Given the description of an element on the screen output the (x, y) to click on. 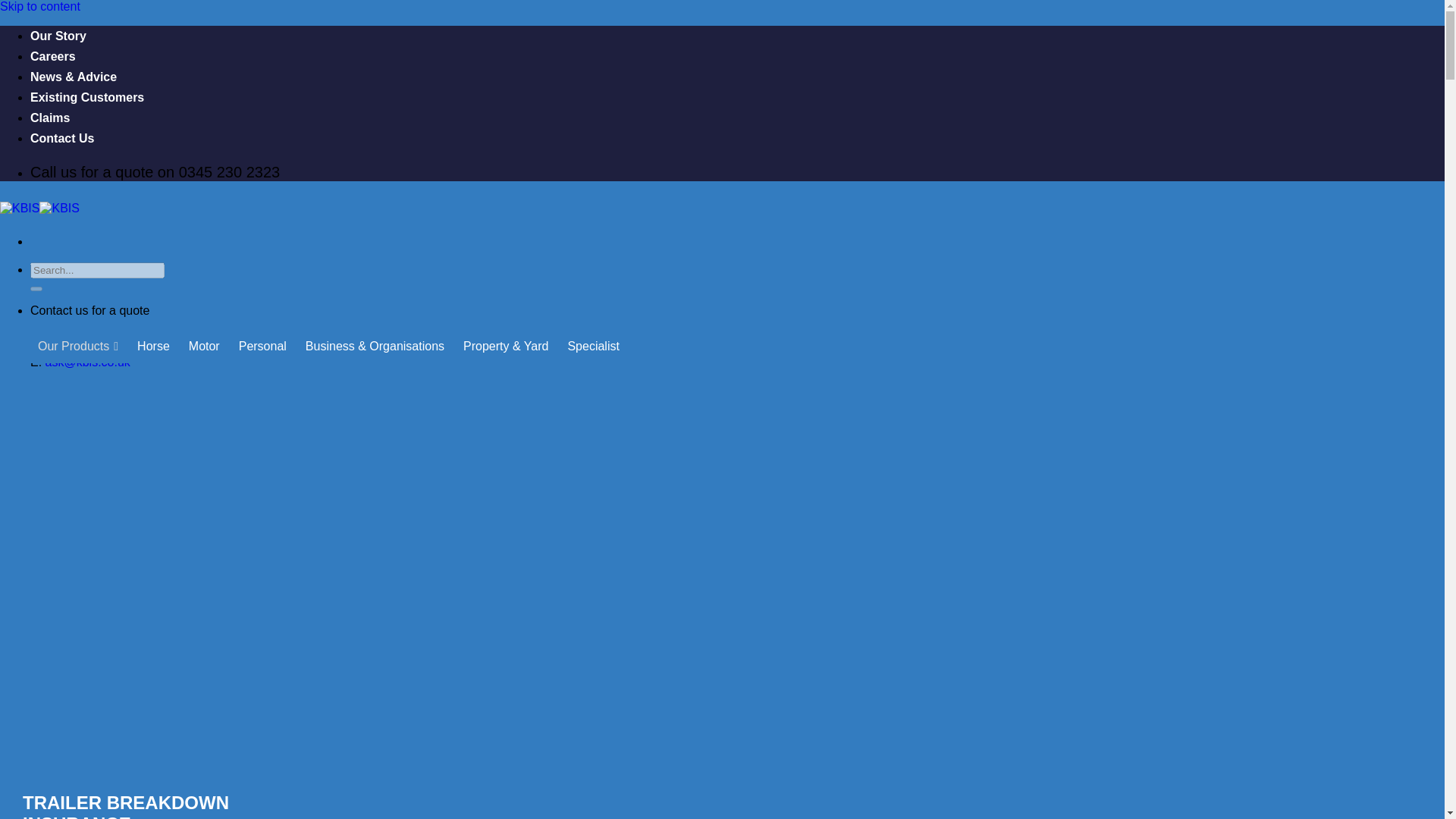
Claims (49, 117)
Contact Us (62, 137)
KBIS - British Equestrian Insurance (40, 207)
0345 230 2323 (83, 336)
Our Story (57, 35)
Careers (52, 56)
Existing Customers (87, 97)
Our Products (77, 346)
Skip to content (40, 6)
